Given the description of an element on the screen output the (x, y) to click on. 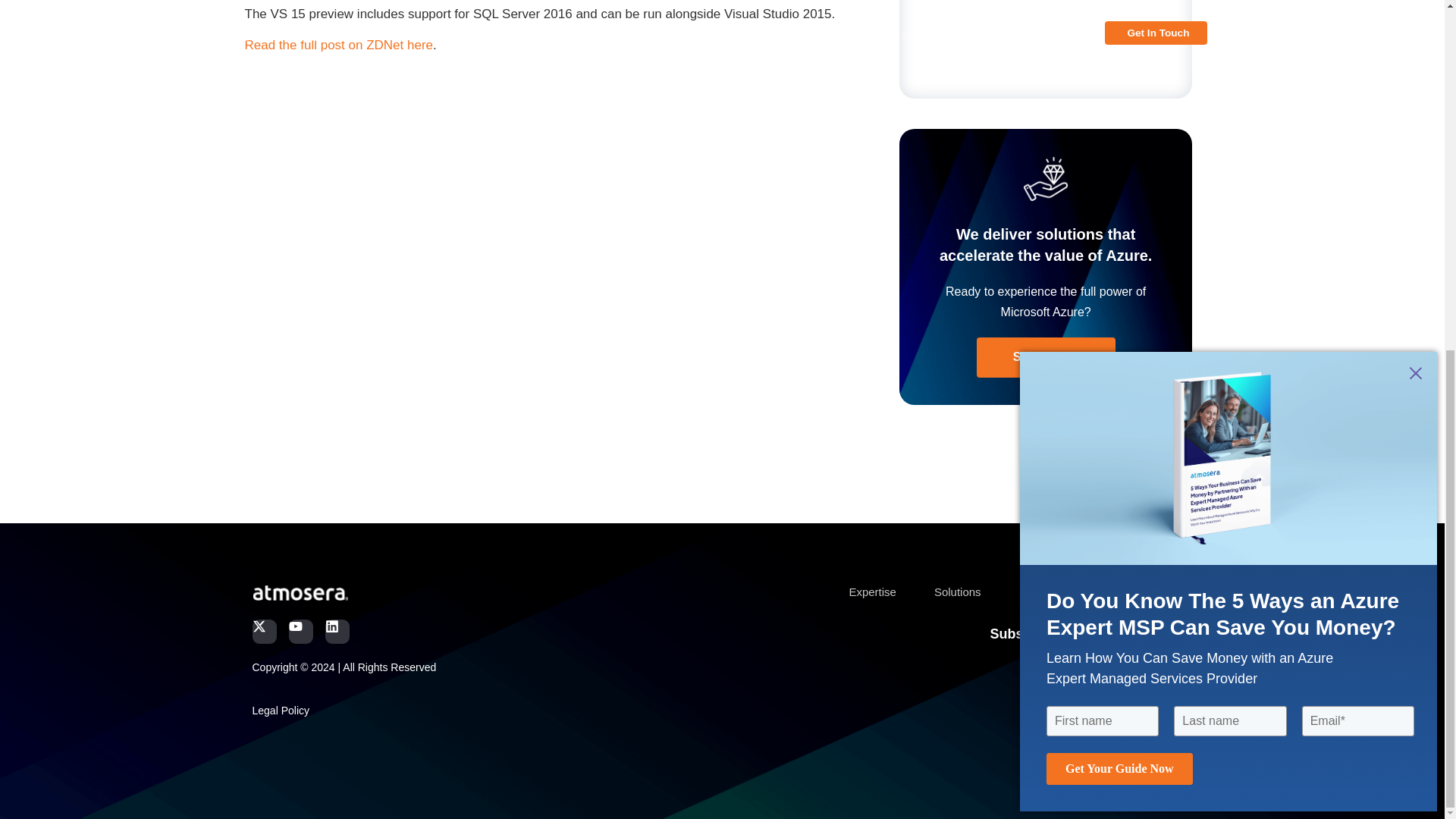
Form 1 (1047, 708)
Form 0 (1046, 35)
Popup CTA (1228, 101)
